Given the description of an element on the screen output the (x, y) to click on. 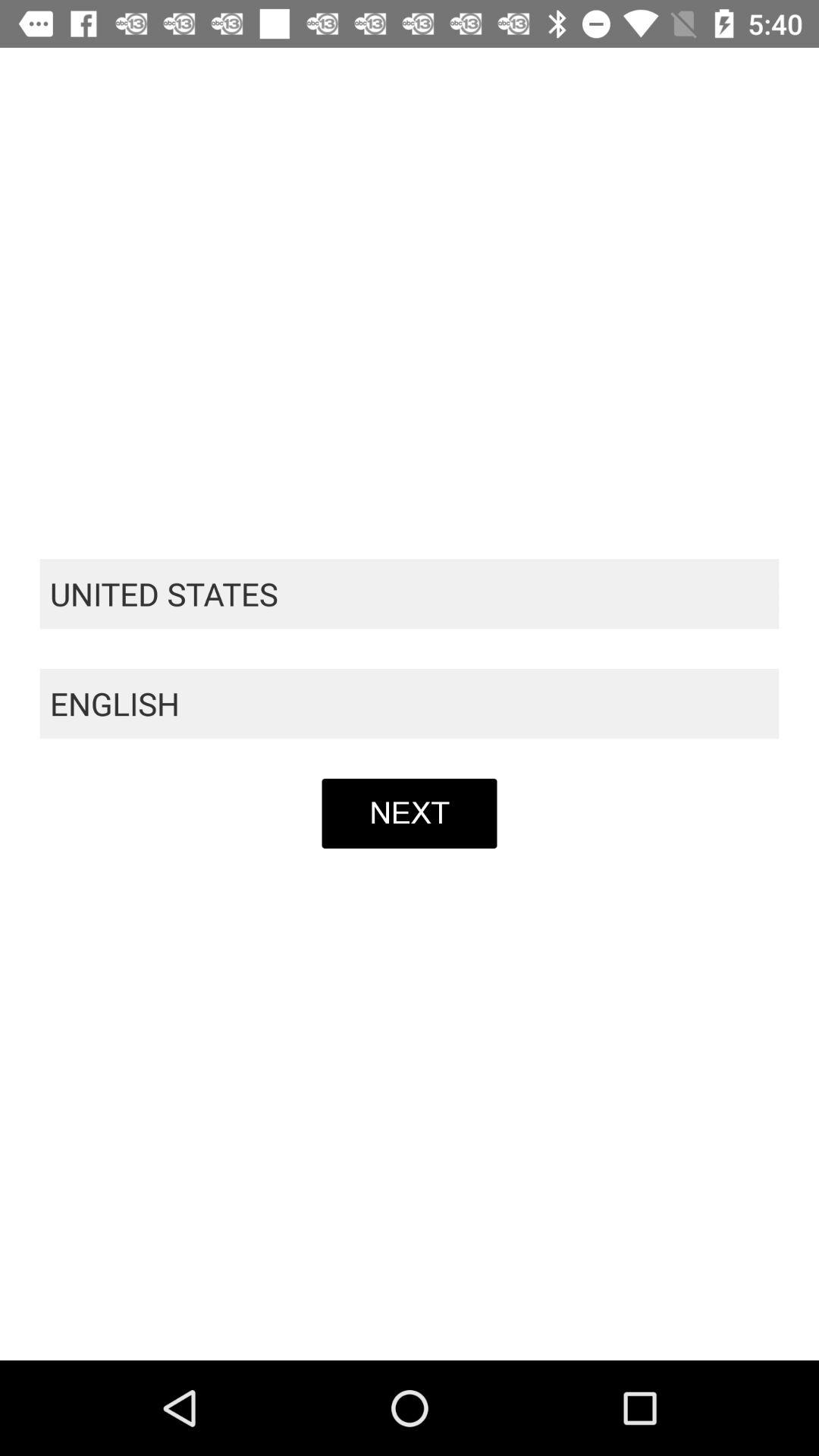
flip until the english item (409, 703)
